Given the description of an element on the screen output the (x, y) to click on. 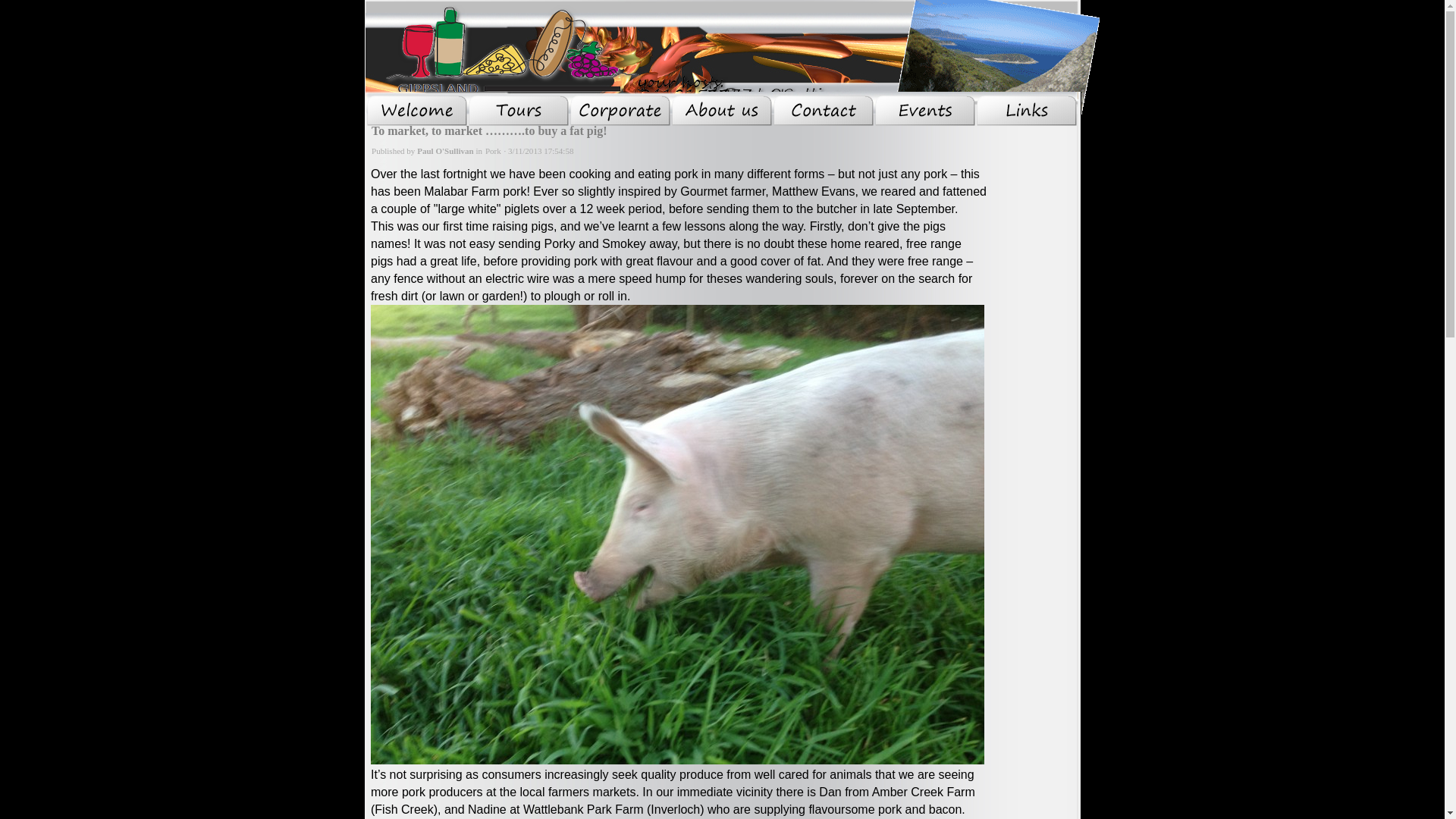
Pork Element type: text (493, 150)
